Given the description of an element on the screen output the (x, y) to click on. 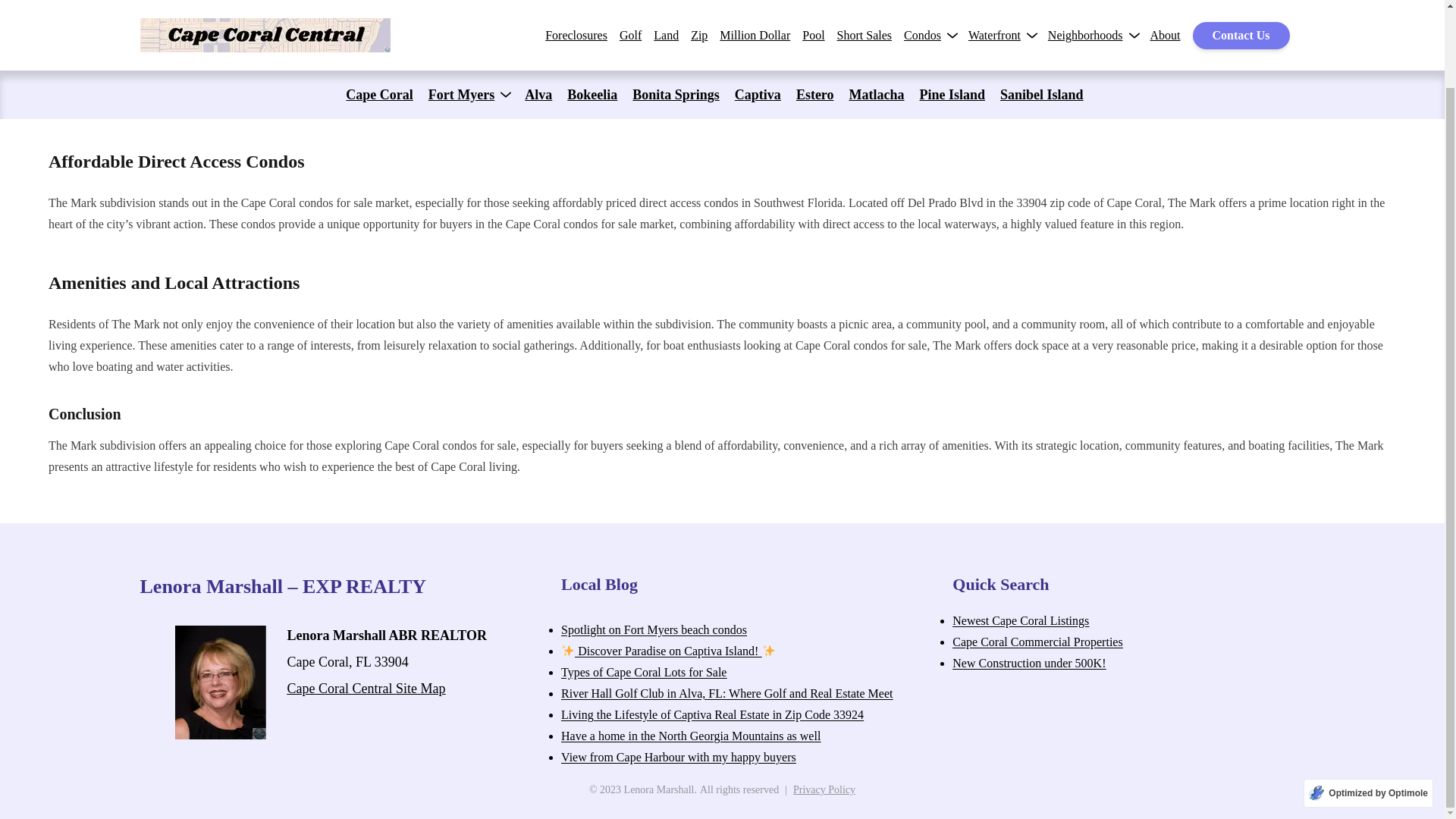
Matlacha (876, 8)
Home (63, 56)
Fort Myers (461, 8)
Cape Coral Central Site Map (365, 688)
Cape Coral Condos (135, 56)
Bonita Springs (675, 8)
Estero (815, 8)
Sanibel Island (1041, 8)
Cape Coral (379, 8)
Bokeelia (592, 8)
Alva (537, 8)
Pine Island (952, 8)
Captiva (757, 8)
